Given the description of an element on the screen output the (x, y) to click on. 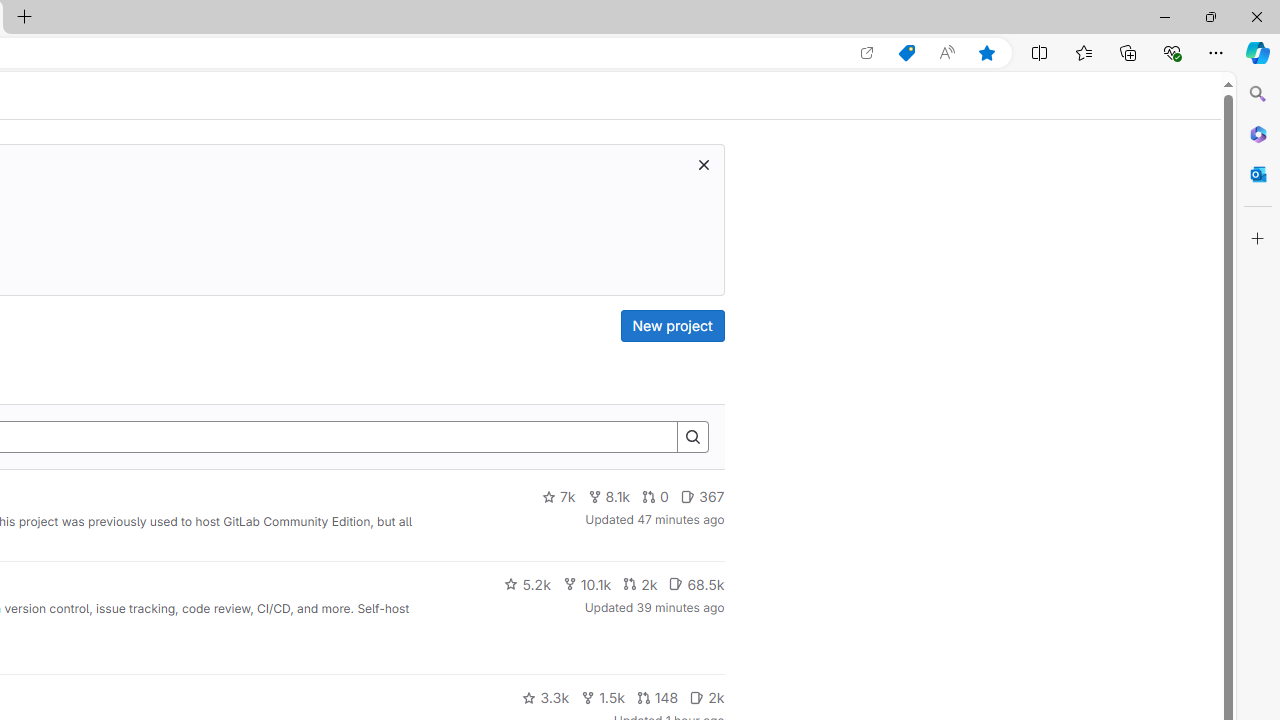
148 (657, 697)
Class: s16 gl-icon gl-button-icon  (703, 164)
